Given the description of an element on the screen output the (x, y) to click on. 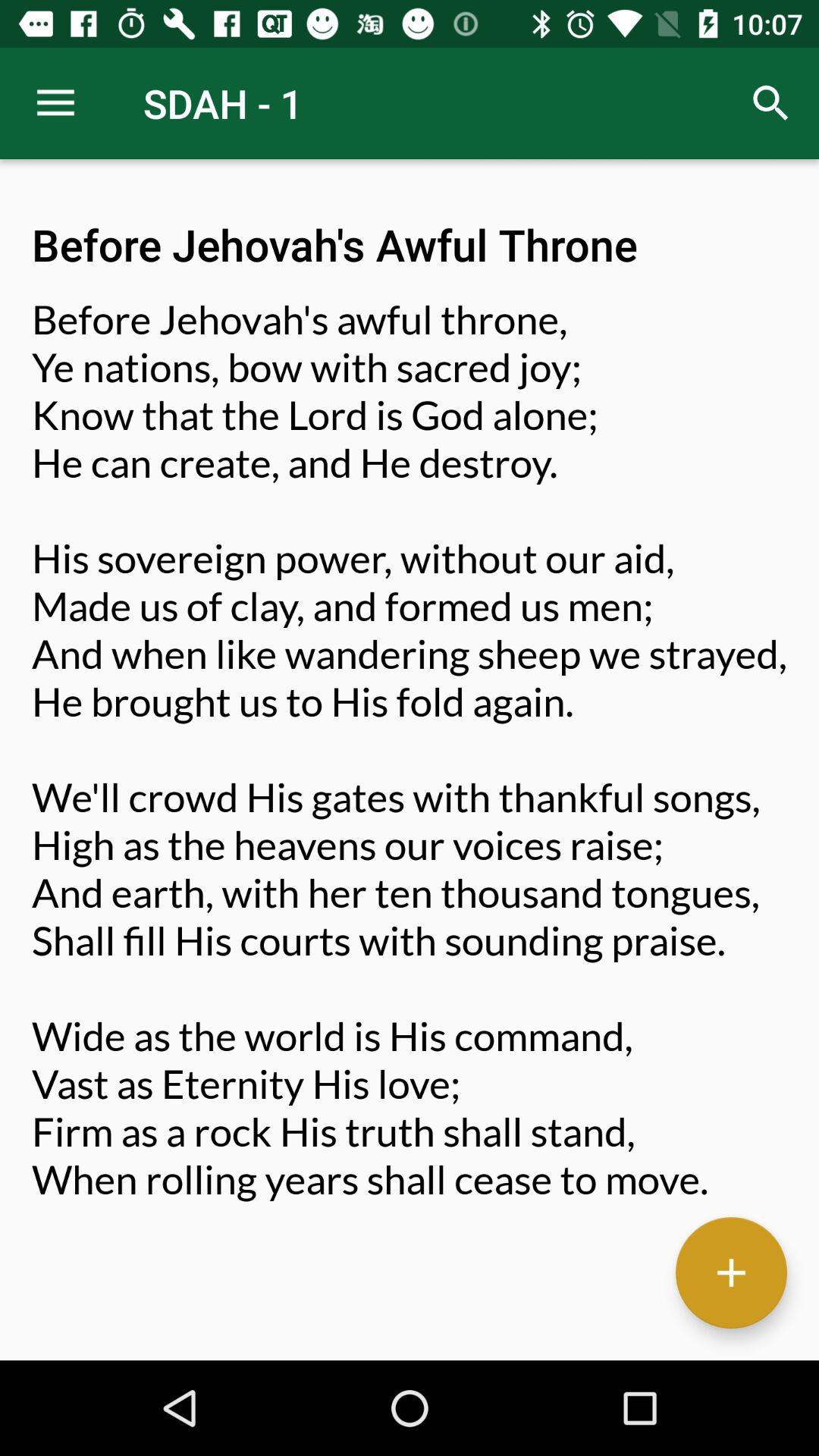
read more (731, 1272)
